Given the description of an element on the screen output the (x, y) to click on. 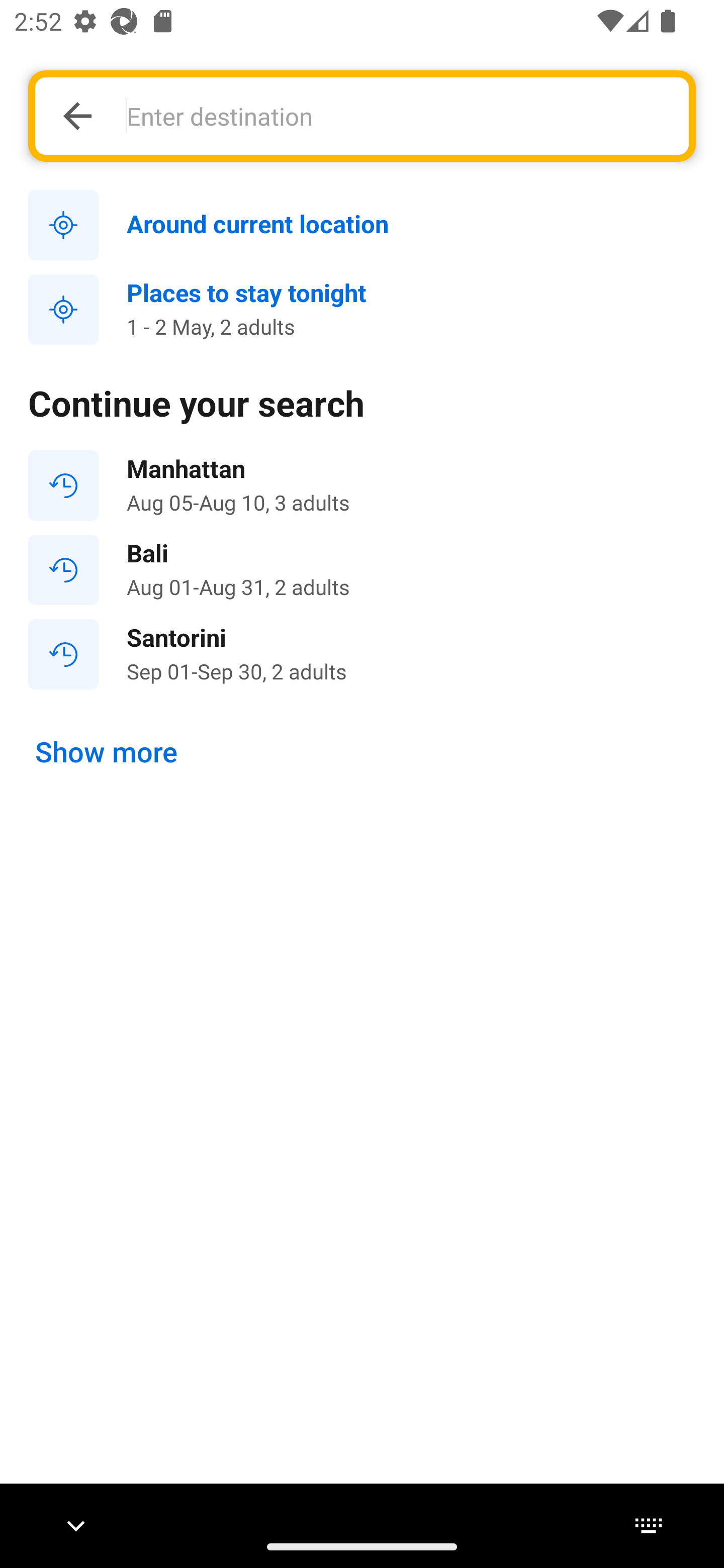
Enter destination (396, 115)
Around current location (362, 225)
Places to stay tonight 1 - 2 May, 2 adults (362, 309)
Manhattan Aug 05-Aug 10, 3 adults  (362, 485)
Bali Aug 01-Aug 31, 2 adults  (362, 569)
Santorini Sep 01-Sep 30, 2 adults  (362, 653)
Show more (106, 752)
